Given the description of an element on the screen output the (x, y) to click on. 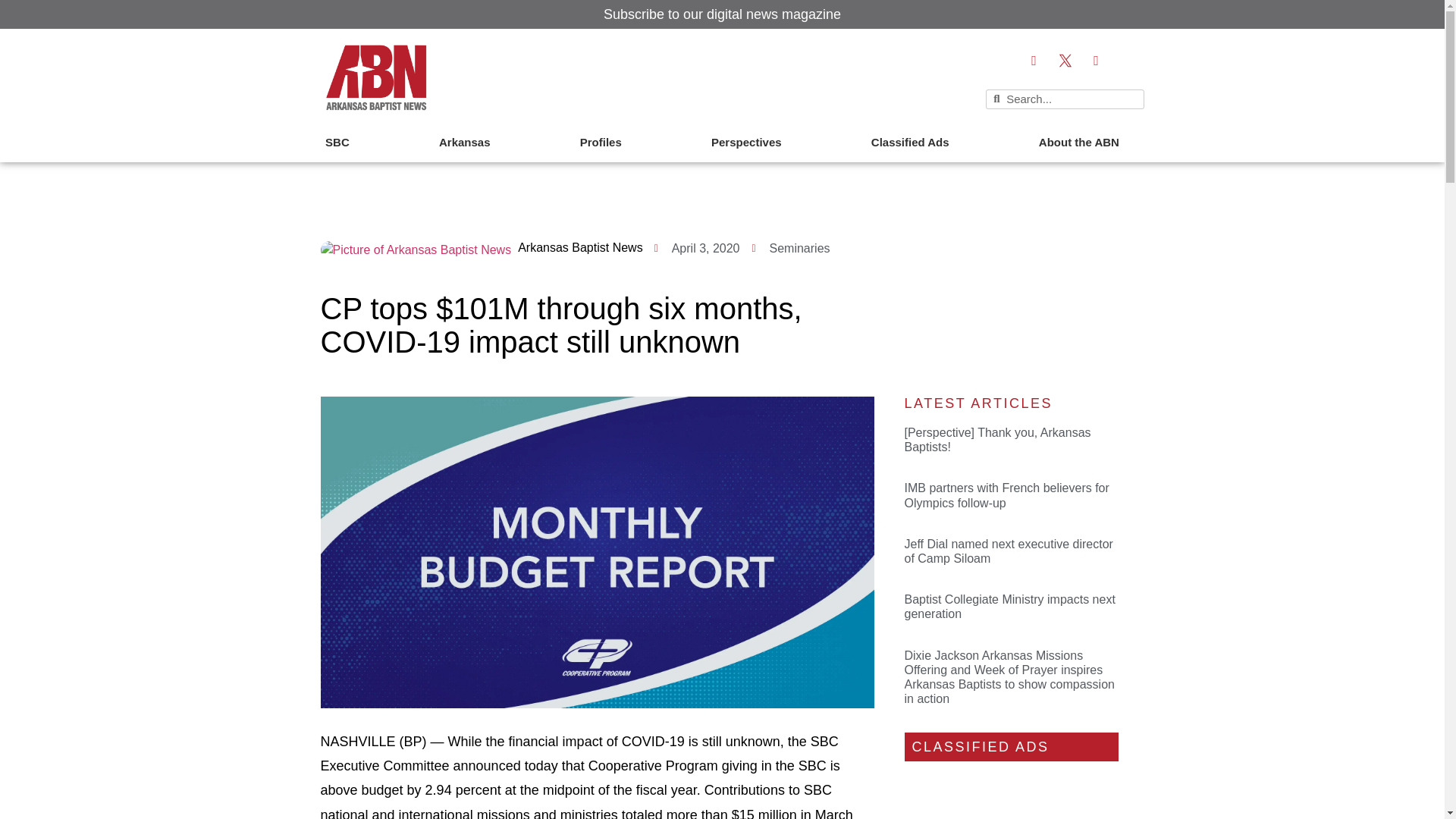
Classified Ads (910, 142)
Perspectives (746, 142)
About the ABN (1078, 142)
Arkansas (464, 142)
SBC (337, 142)
Profiles (600, 142)
Subscribe to our digital news magazine (722, 14)
